Given the description of an element on the screen output the (x, y) to click on. 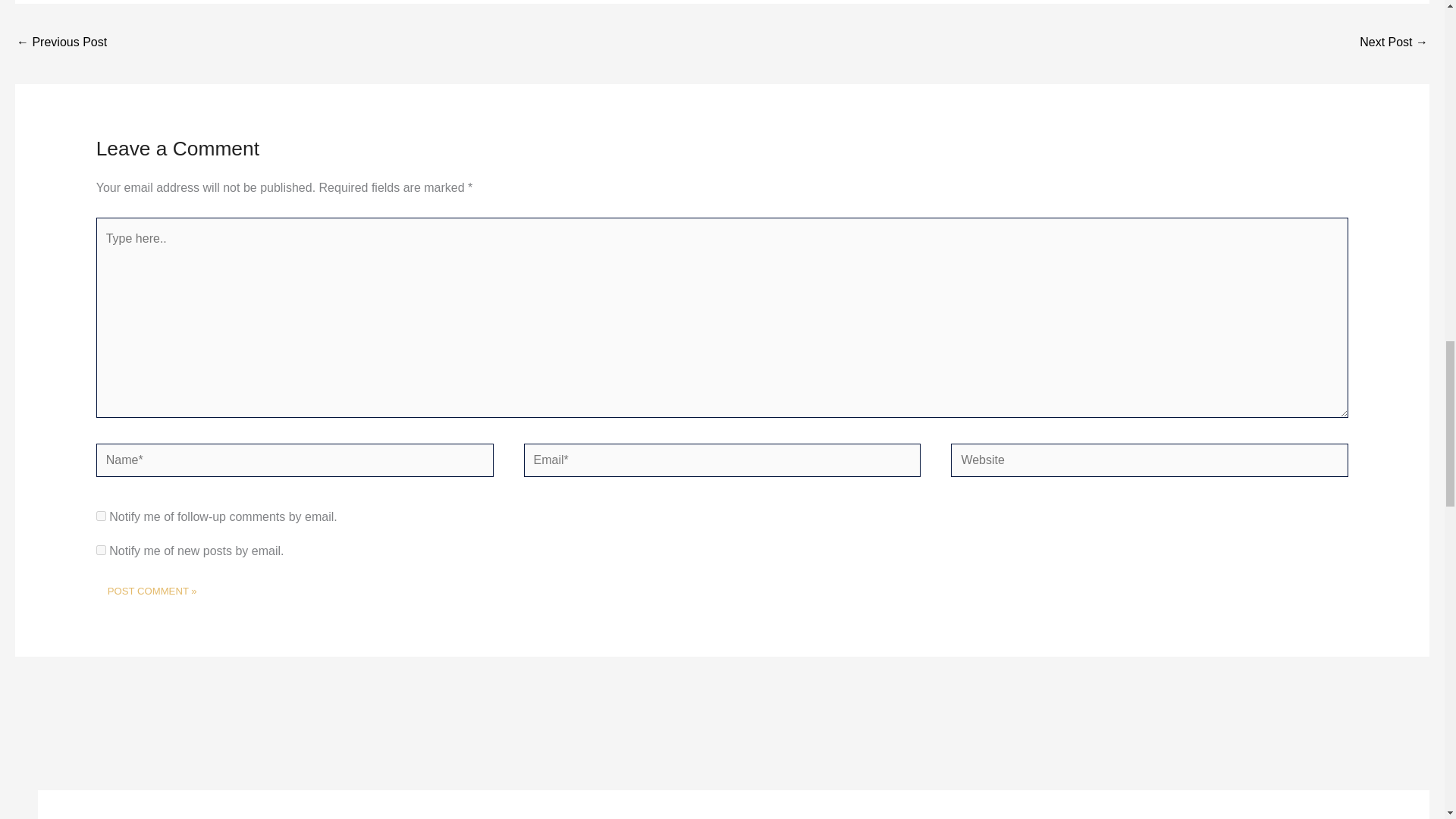
subscribe (101, 550)
Spring Clean-Up: Not Only for Looks, but for Liability! (1393, 43)
subscribe (101, 515)
Empowering HOA and Condo Boards: Three Tips for Resilience (61, 43)
